Given the description of an element on the screen output the (x, y) to click on. 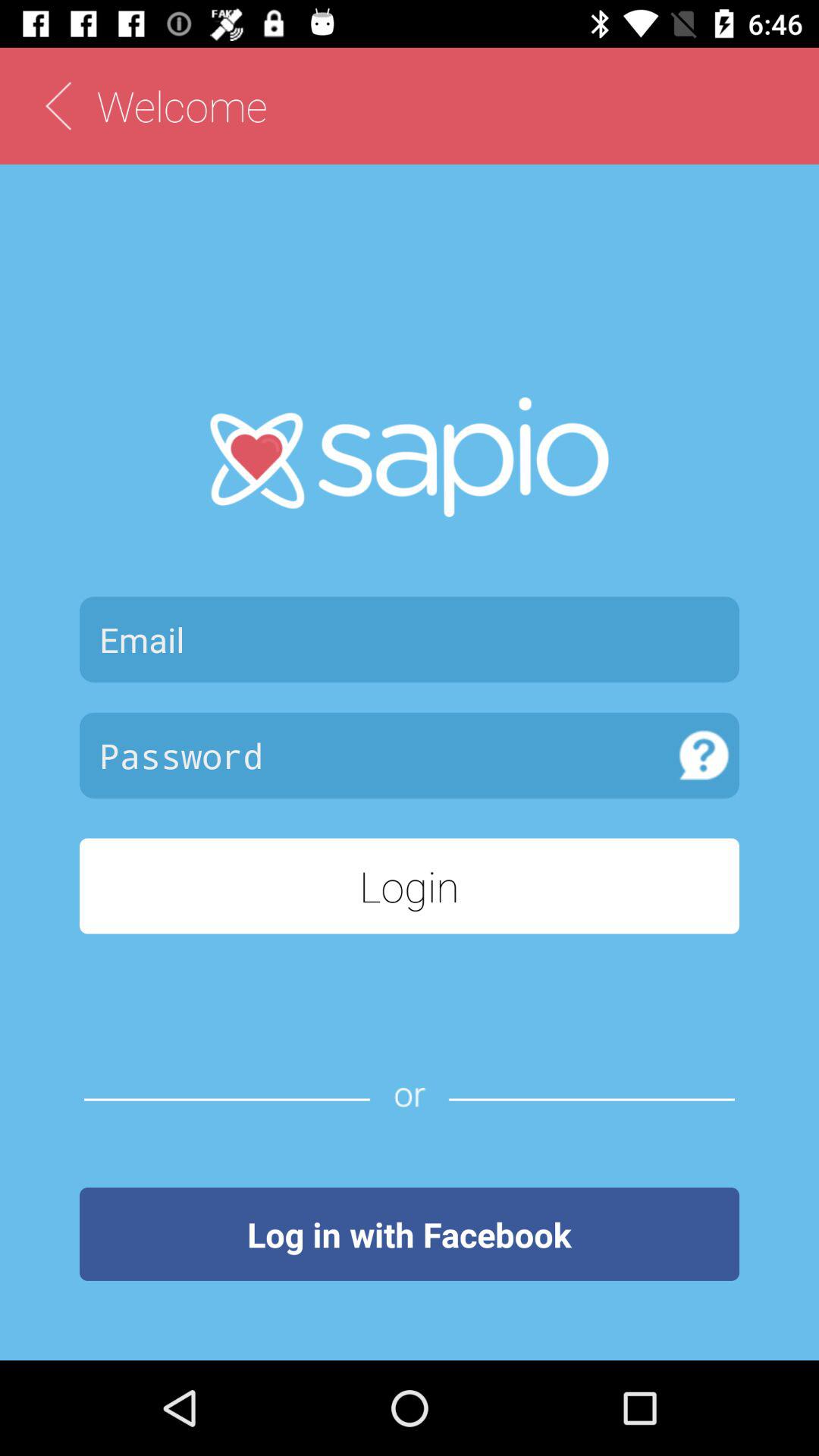
click to know password rule (703, 755)
